Given the description of an element on the screen output the (x, y) to click on. 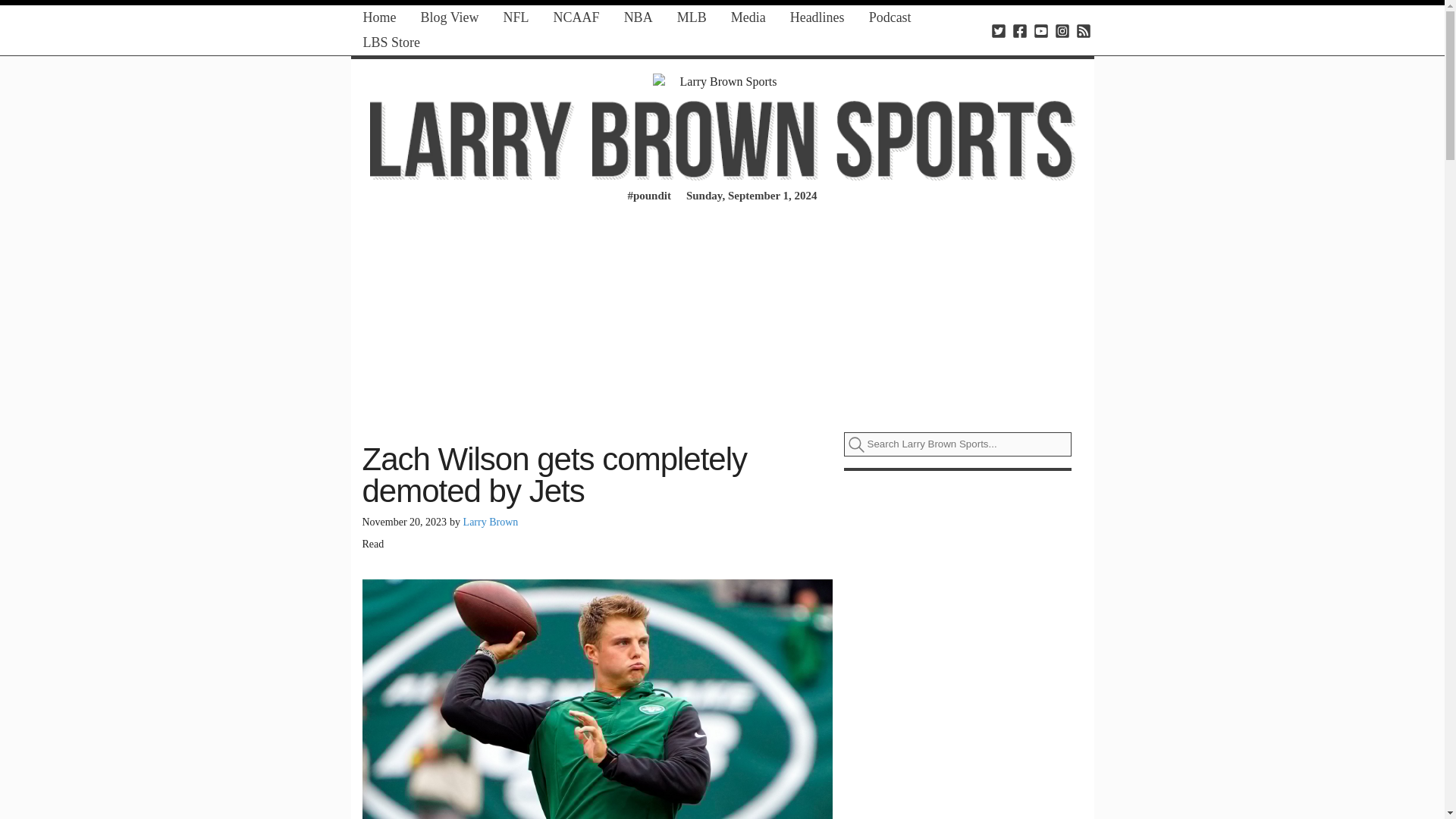
Blog View (448, 17)
View Larry Brown Sports Youtube (1040, 29)
NFL (516, 17)
MLB (692, 17)
View Larry Brown Sports Twitter (998, 29)
Headlines (817, 17)
LBS Store (391, 42)
View Larry Brown Sports Instagram (1061, 29)
Podcast (890, 17)
NBA (638, 17)
